Given the description of an element on the screen output the (x, y) to click on. 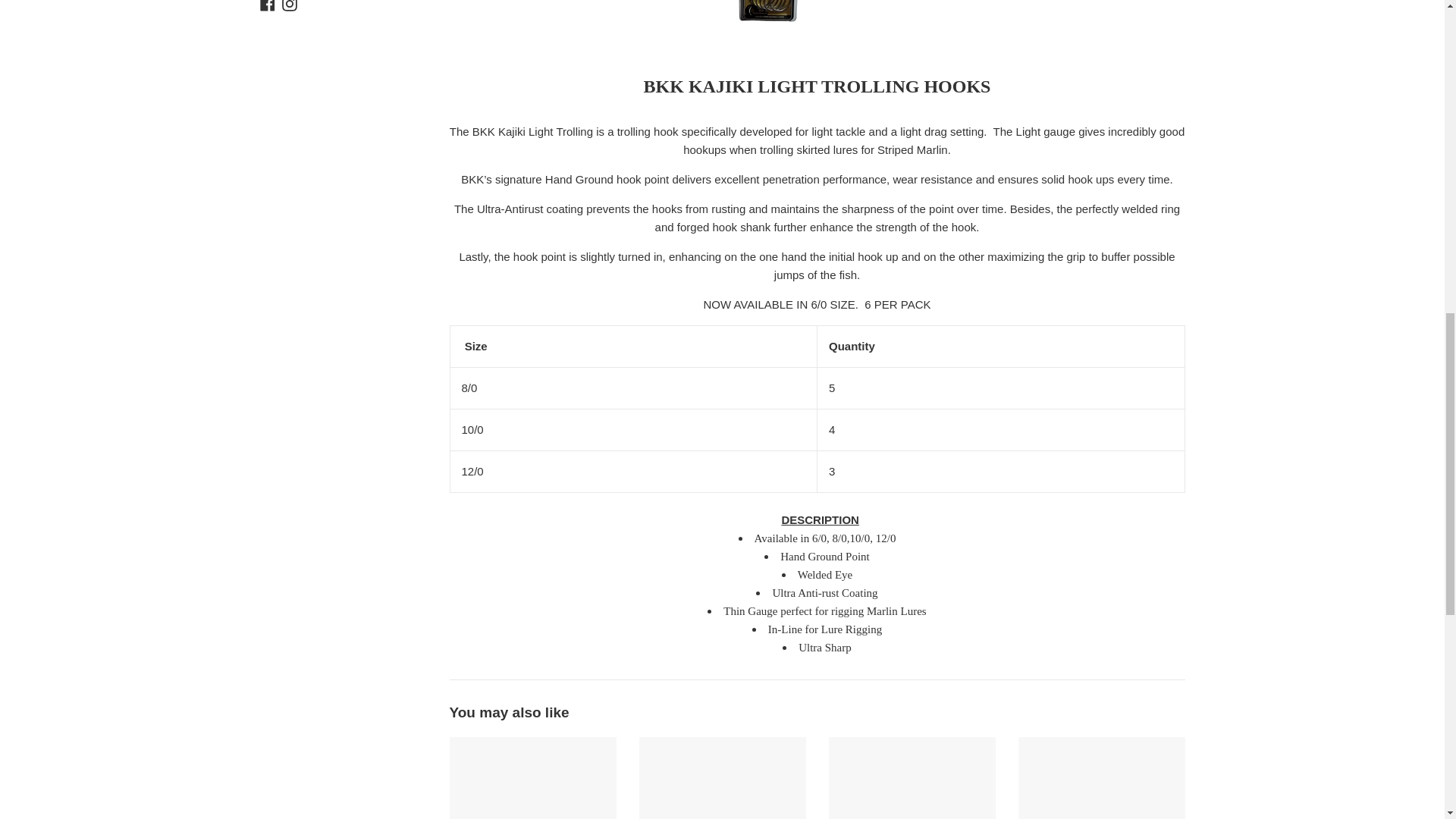
Snowbee Granite Tough Heavy Duty PVC THIGH Waders (911, 778)
Sunline FC ROCK Flurocarbon Leader (1101, 778)
Maxima Chameleon Monofilament Fishing Line One Shot Spool (531, 778)
Allways Angling on Instagram (289, 4)
Black Magic Rolling Swivels Economy Pack (722, 778)
Allways Angling on Facebook (267, 4)
